Given the description of an element on the screen output the (x, y) to click on. 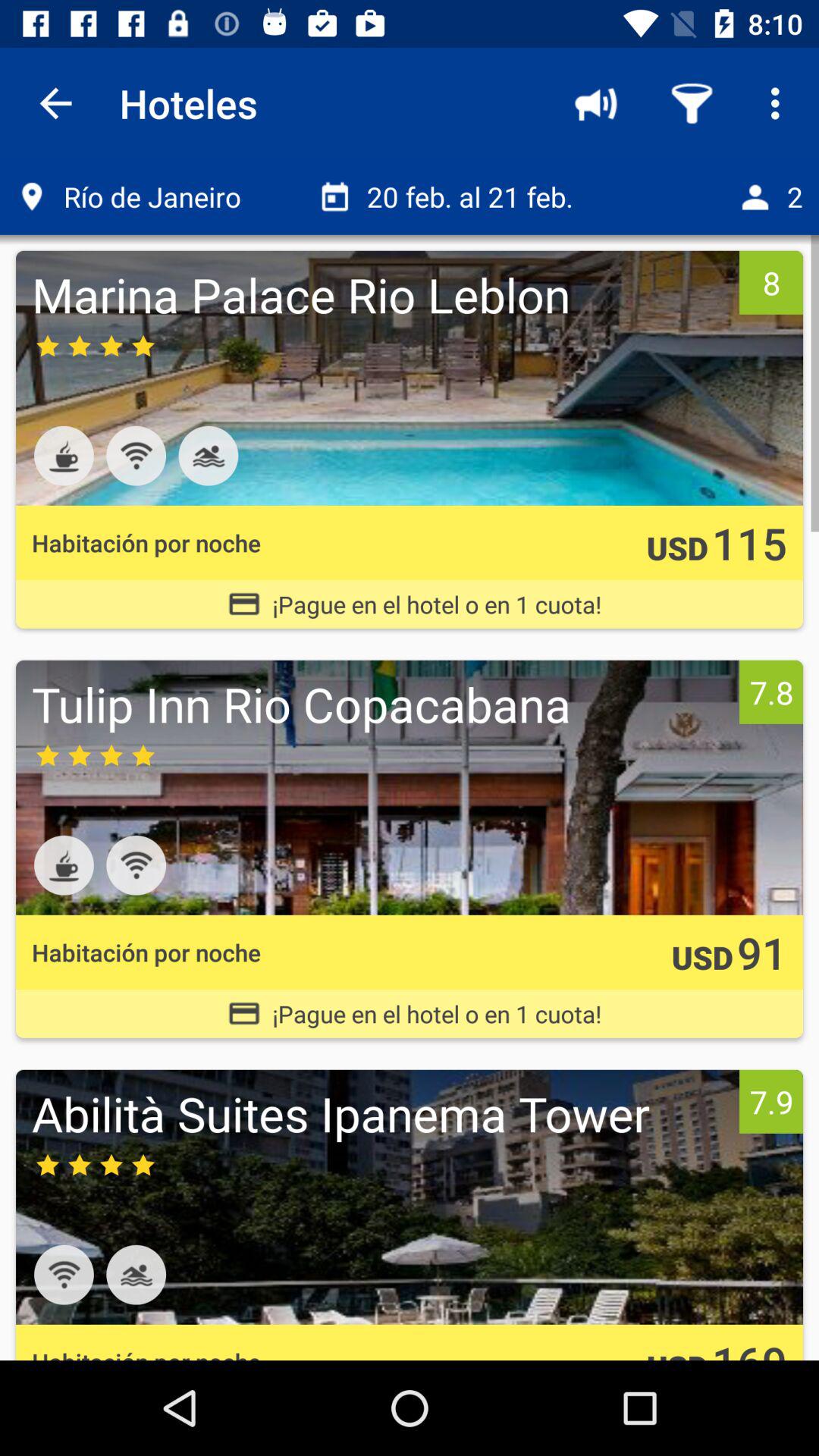
click the icon next to the hoteles item (55, 103)
